Given the description of an element on the screen output the (x, y) to click on. 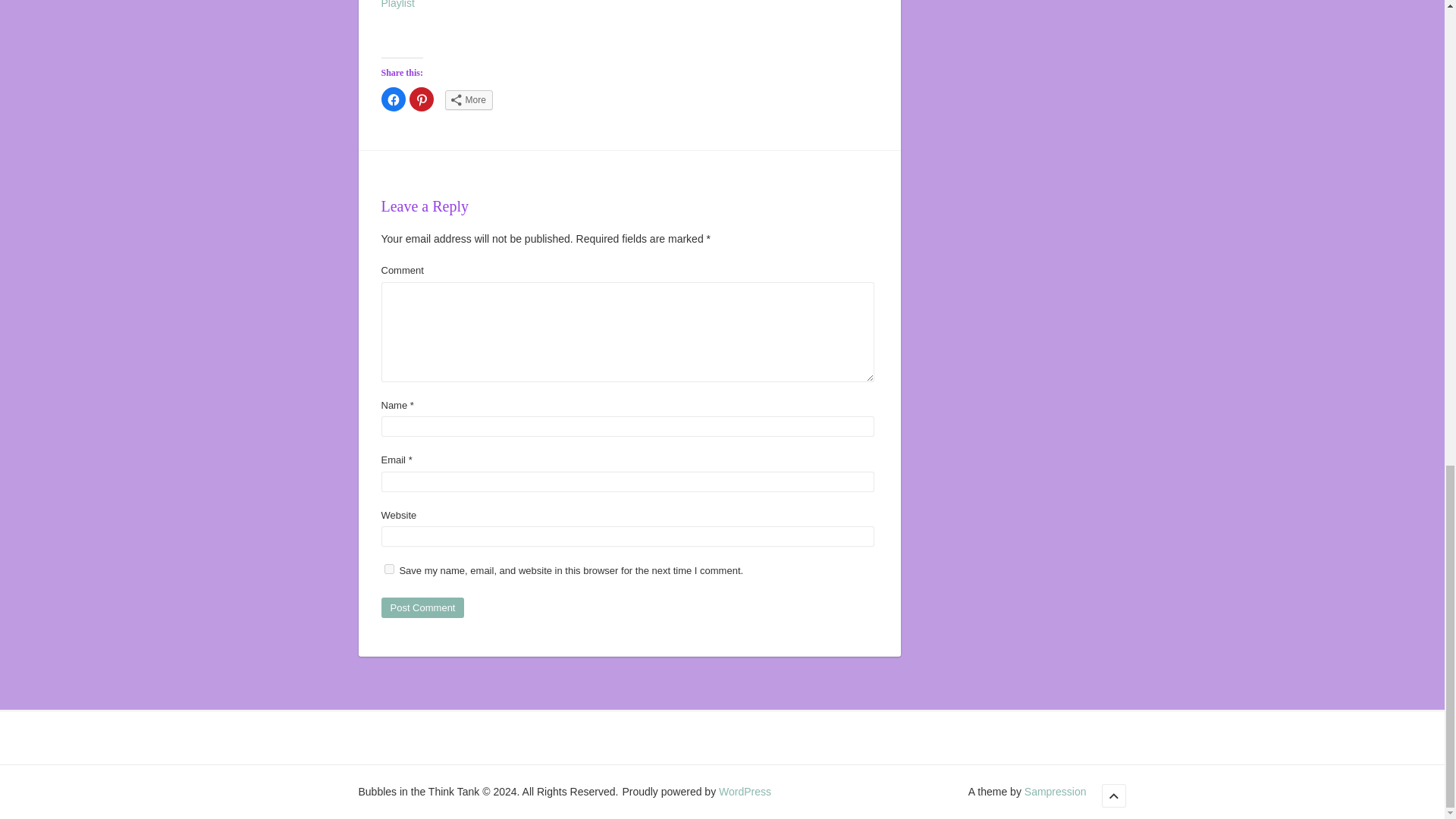
yes (388, 569)
WordPress (745, 791)
Post Comment (422, 607)
Sampression (1055, 791)
Click to share on Pinterest (421, 98)
Click to share on Facebook (392, 98)
